Given the description of an element on the screen output the (x, y) to click on. 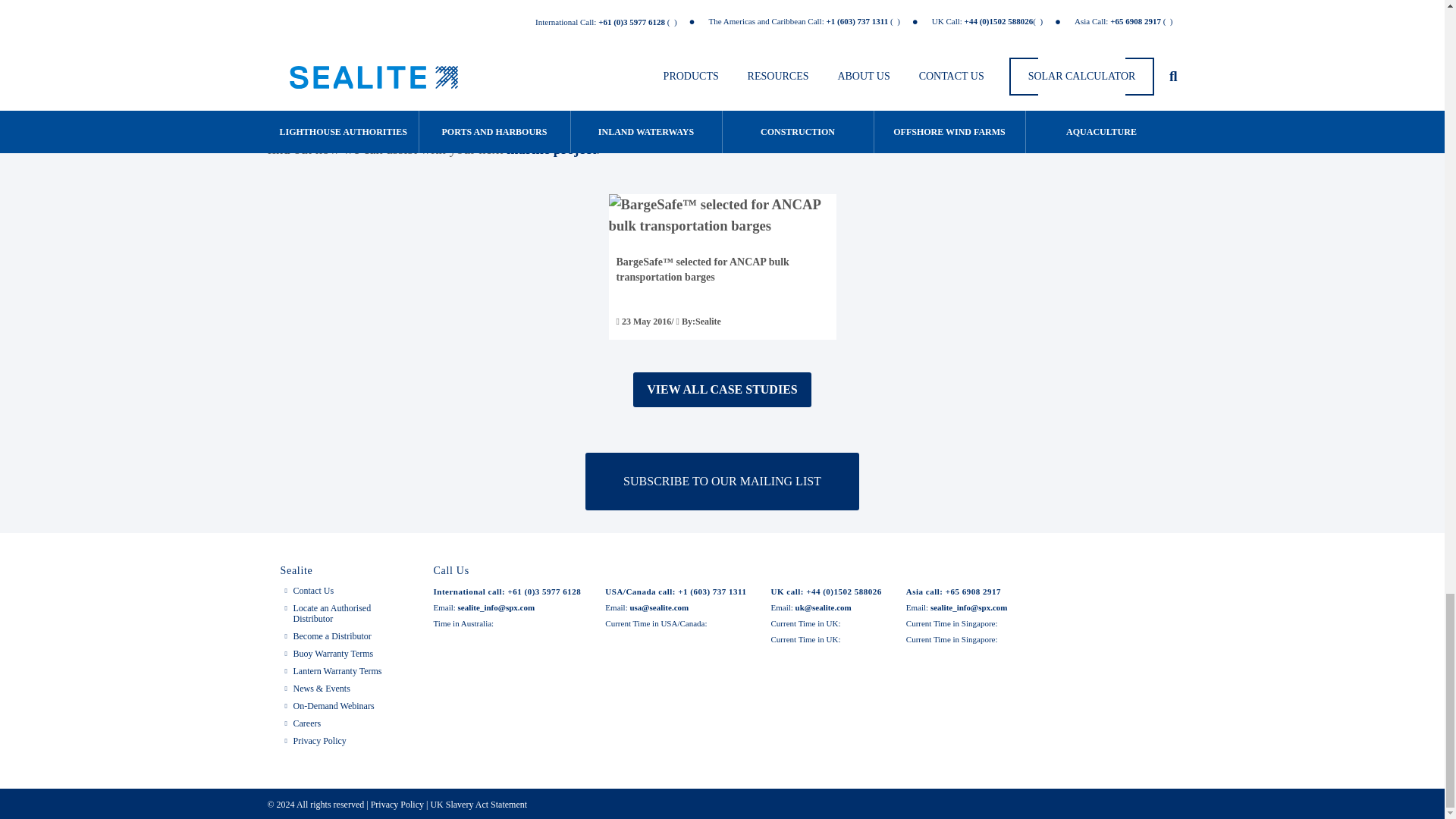
Subscribe to Our Mailing List (722, 481)
